Given the description of an element on the screen output the (x, y) to click on. 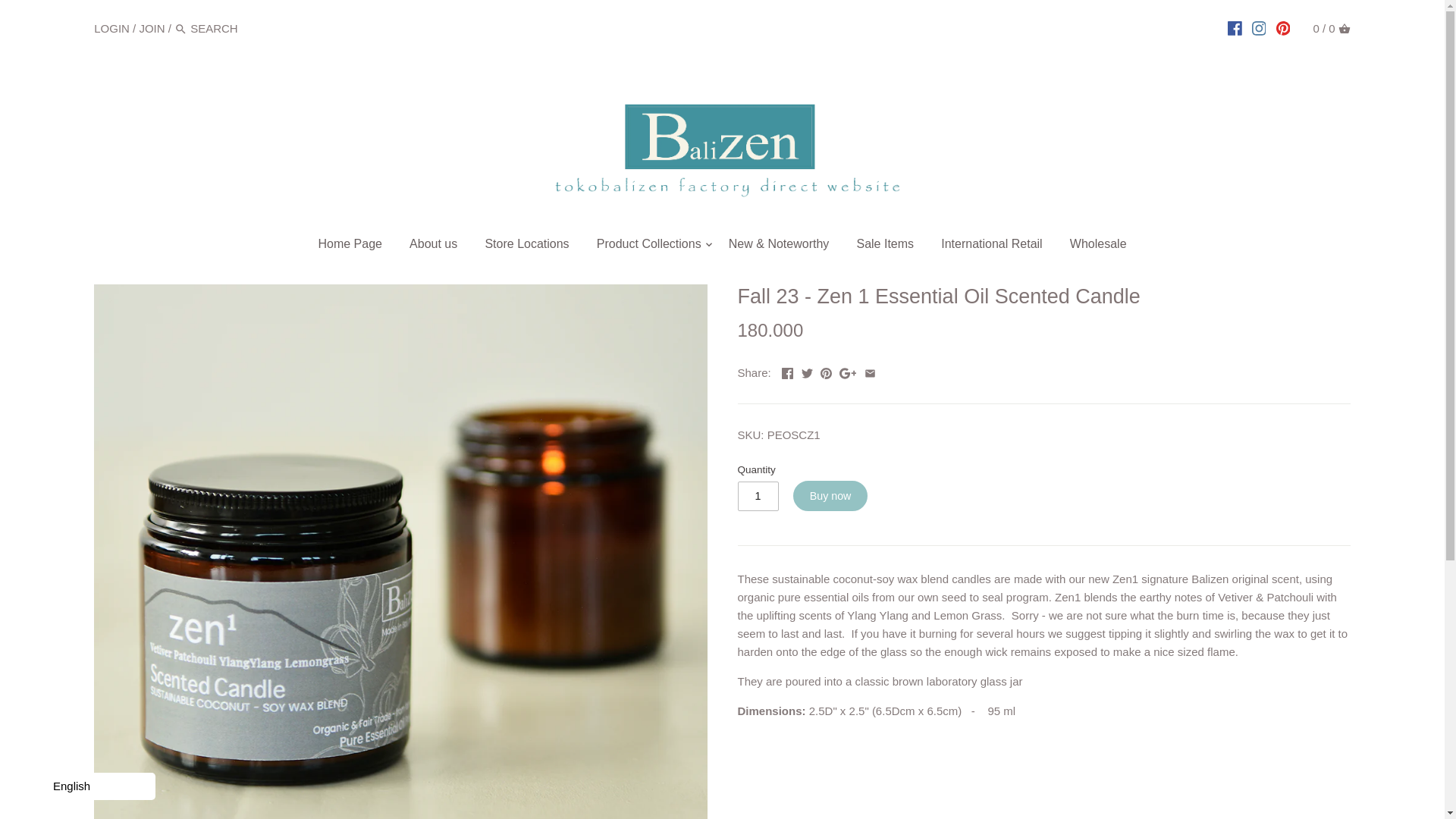
JOIN (151, 27)
LOGIN (111, 27)
Wholesale (1098, 245)
FACEBOOK (1234, 28)
Search (180, 29)
1 (756, 495)
INSTAGRAM (1259, 28)
Twitter (807, 373)
Sale Items (885, 245)
Product Collections (649, 245)
Home Page (349, 245)
Facebook (787, 373)
CART (1344, 28)
PINTEREST (1283, 28)
GooglePlus (848, 373)
